Given the description of an element on the screen output the (x, y) to click on. 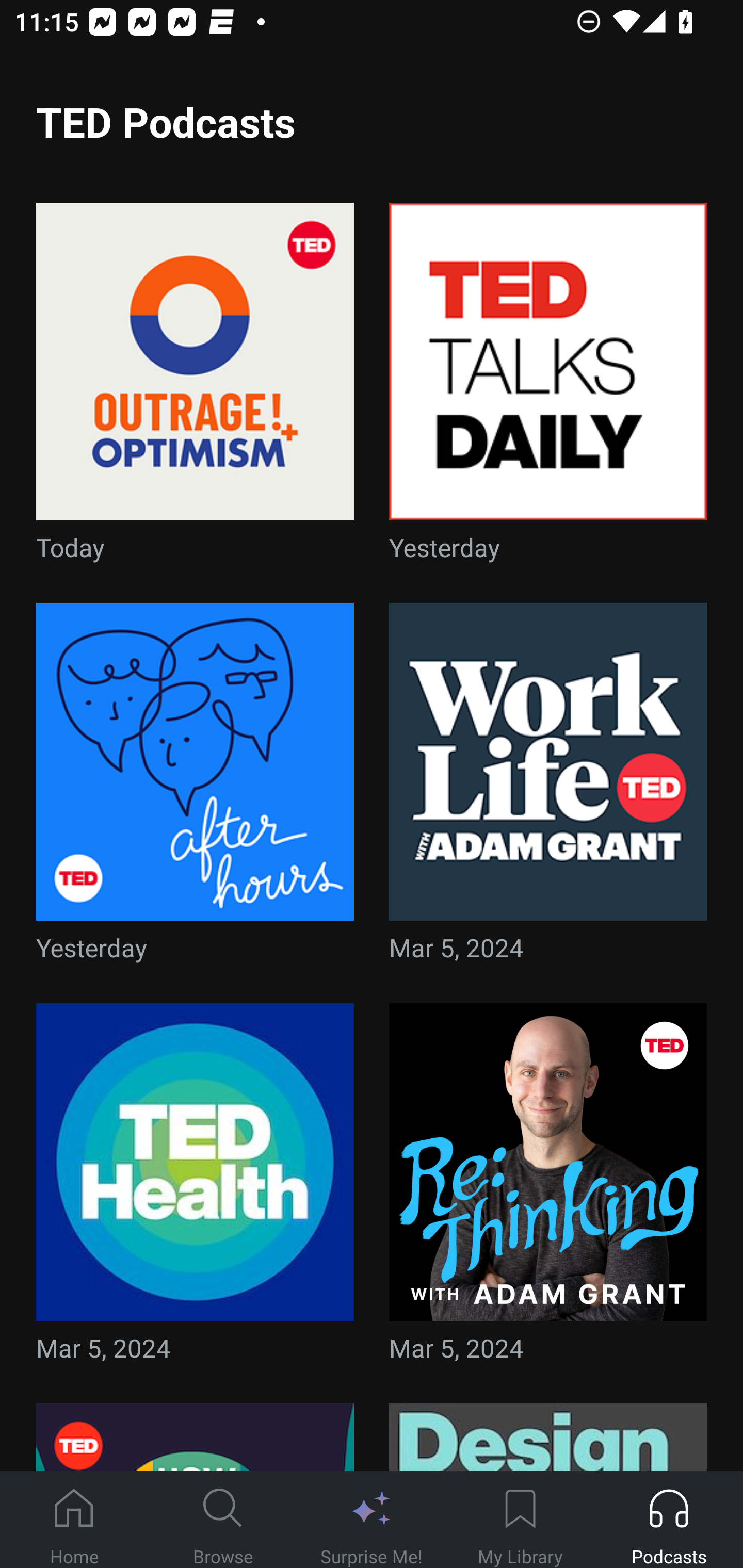
Today (194, 387)
Yesterday (547, 387)
Yesterday (194, 788)
Mar 5, 2024 (547, 788)
Mar 5, 2024 (194, 1189)
Mar 5, 2024 (547, 1189)
Home (74, 1520)
Browse (222, 1520)
Surprise Me! (371, 1520)
My Library (519, 1520)
Podcasts (668, 1520)
